Given the description of an element on the screen output the (x, y) to click on. 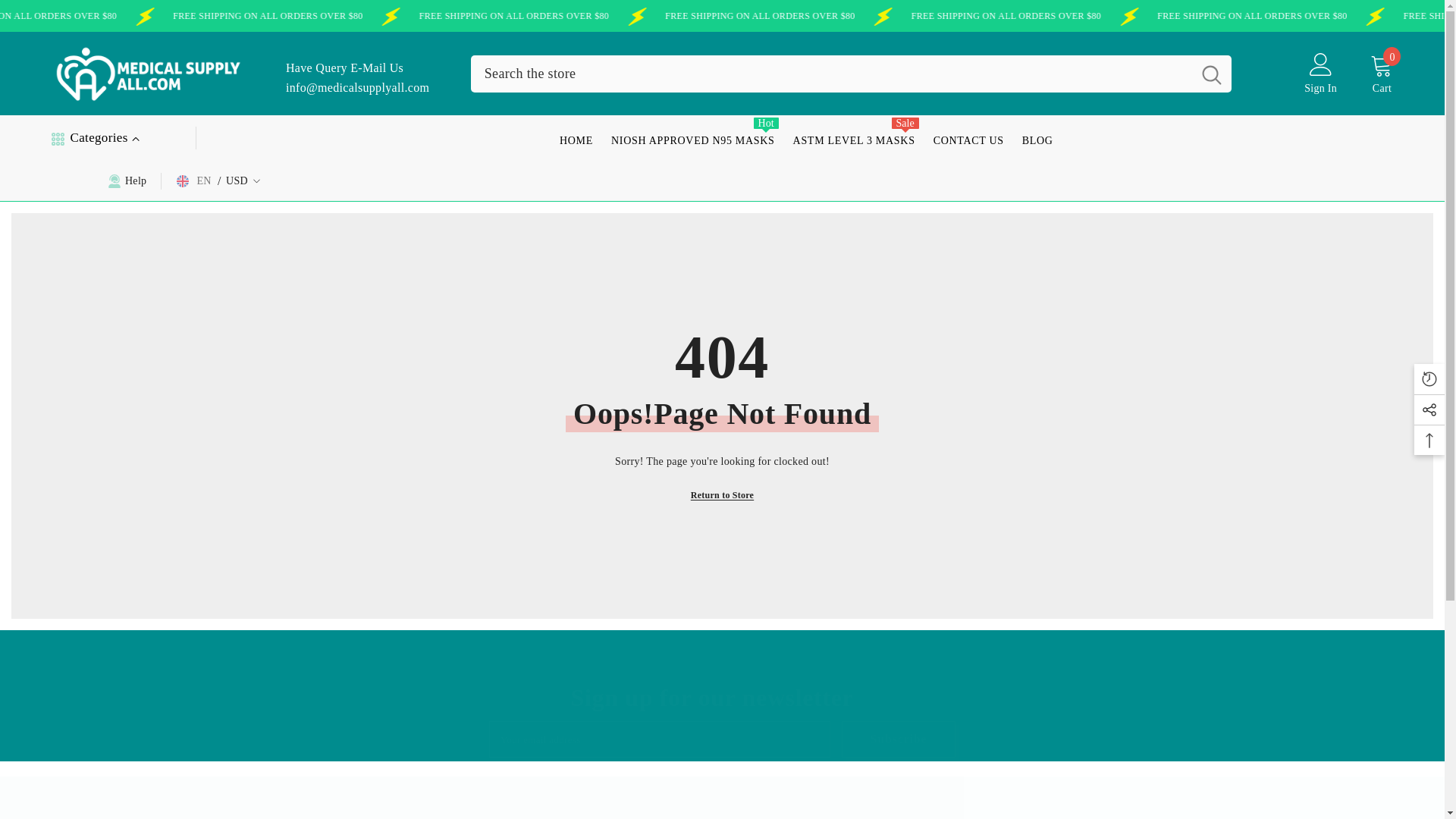
Sign up for our newsletter (711, 697)
